Given the description of an element on the screen output the (x, y) to click on. 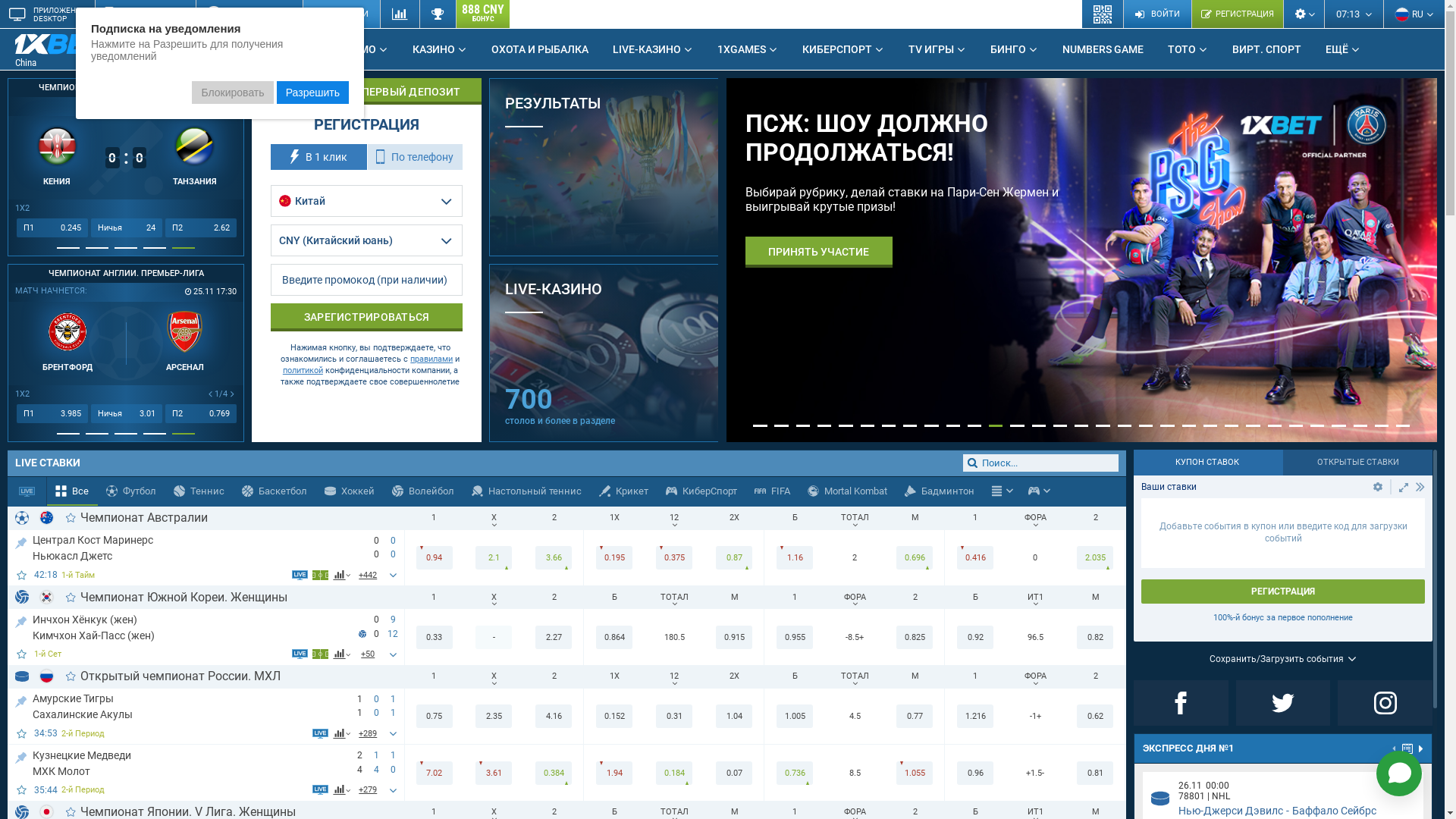
NUMBERS GAME Element type: text (1102, 48)
FIFA Element type: text (772, 490)
PROMO Element type: text (363, 48)
1xBet Betting Company Element type: hover (60, 43)
NEW Element type: text (124, 42)
TOP Element type: hover (20, 754)
TOP Element type: hover (20, 618)
TOP Element type: hover (20, 698)
+289 Element type: text (367, 732)
+50 Element type: text (367, 654)
Mortal Kombat Element type: text (847, 490)
1XGAMES Element type: text (747, 48)
+438 Element type: text (367, 574)
+278 Element type: text (367, 789)
+1264 Element type: text (1020, 272)
LIVE Element type: text (296, 48)
TOP Element type: hover (20, 540)
China Element type: text (71, 49)
